Given the description of an element on the screen output the (x, y) to click on. 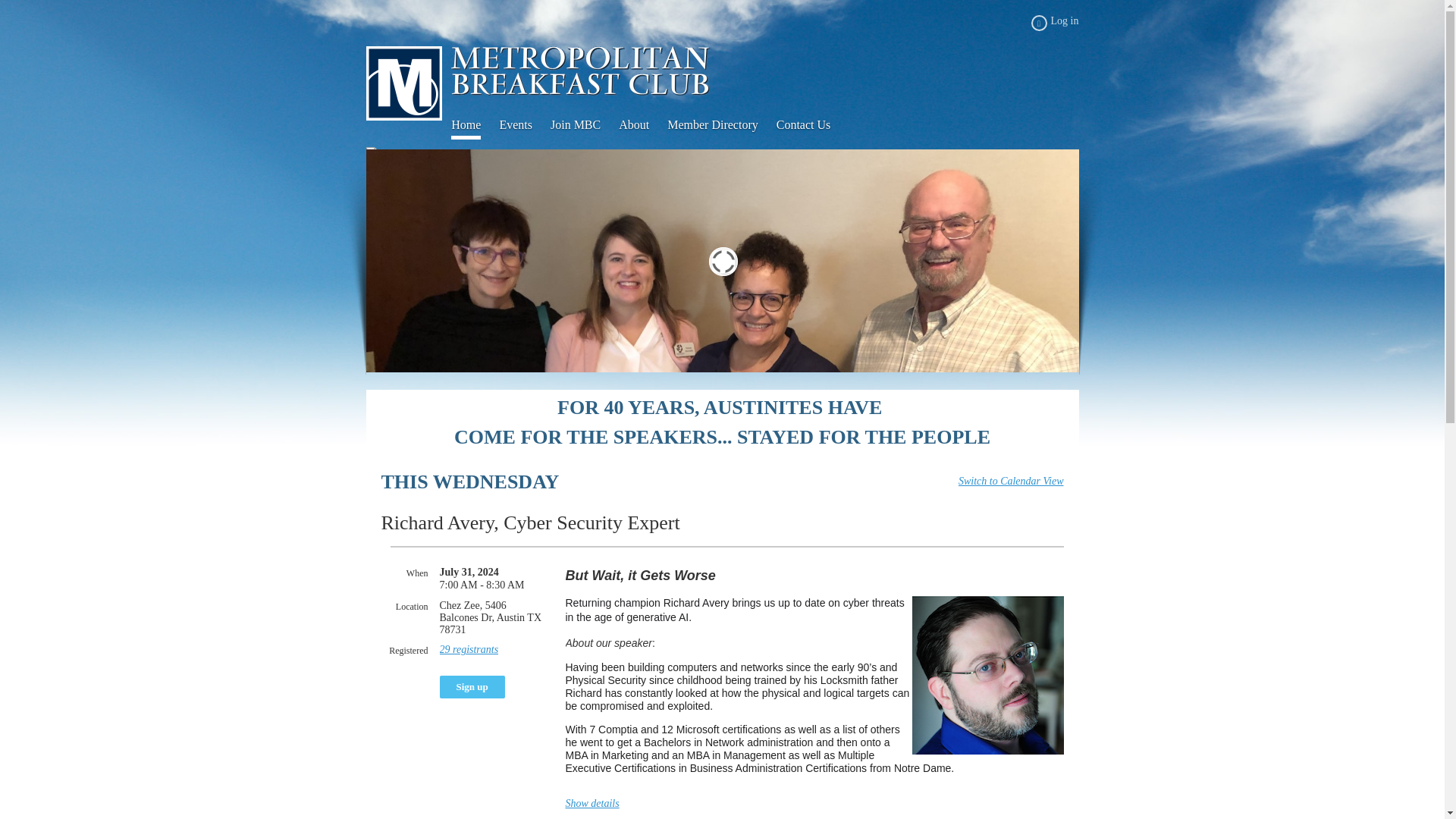
Home (475, 124)
Home (475, 124)
Sign up (472, 686)
Show details (593, 803)
29 registrants (469, 649)
Join MBC (584, 124)
About (642, 124)
Member Directory (721, 124)
About (642, 124)
Events (524, 124)
Log in (1054, 23)
Join MBC (584, 124)
Events (524, 124)
Member Directory (721, 124)
Switch to Calendar View (1011, 480)
